Given the description of an element on the screen output the (x, y) to click on. 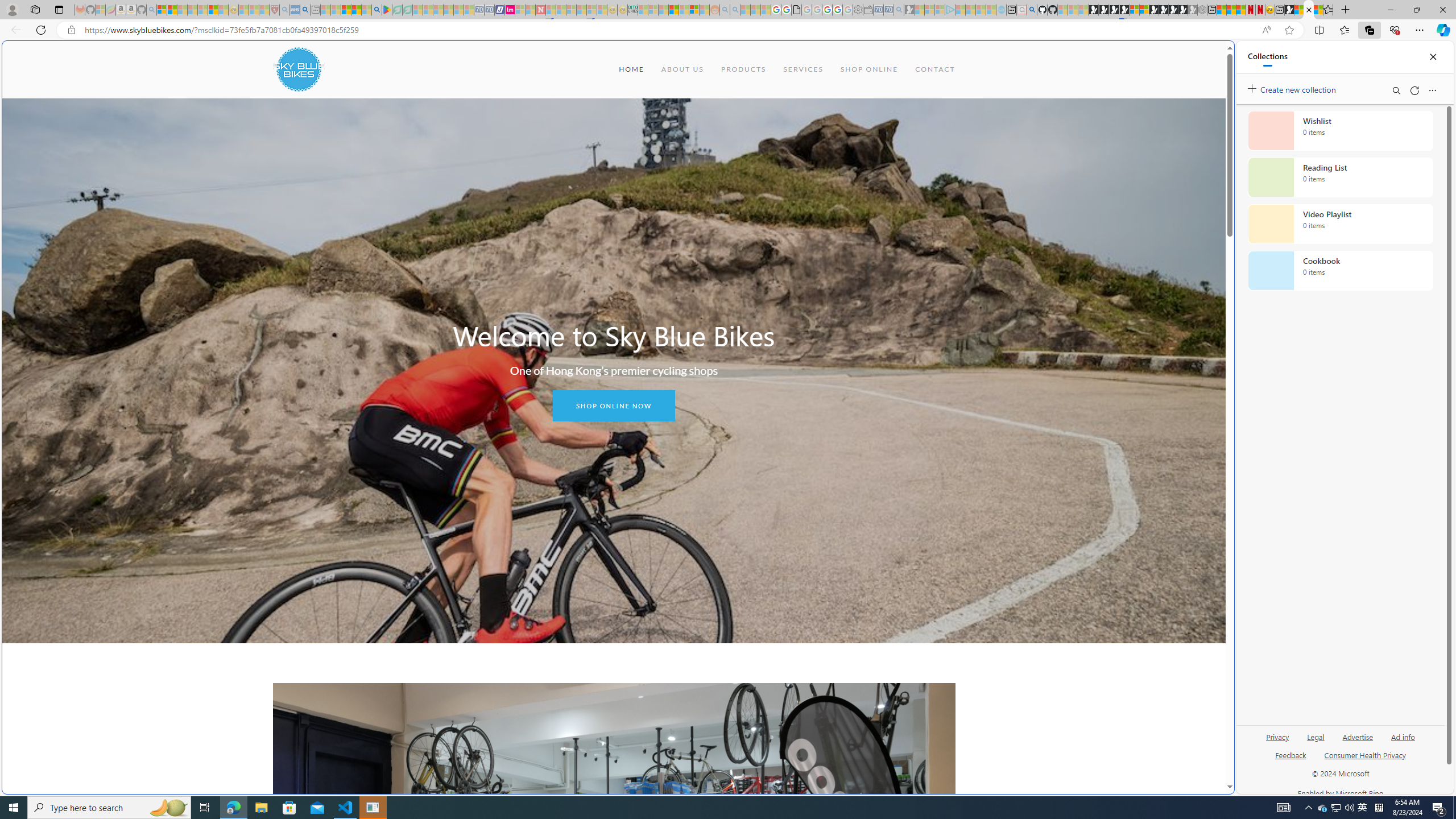
CONTACT (935, 68)
Class: uk-navbar-item uk-logo (298, 68)
Overview (1144, 9)
Search or enter web address (922, 108)
